Given the description of an element on the screen output the (x, y) to click on. 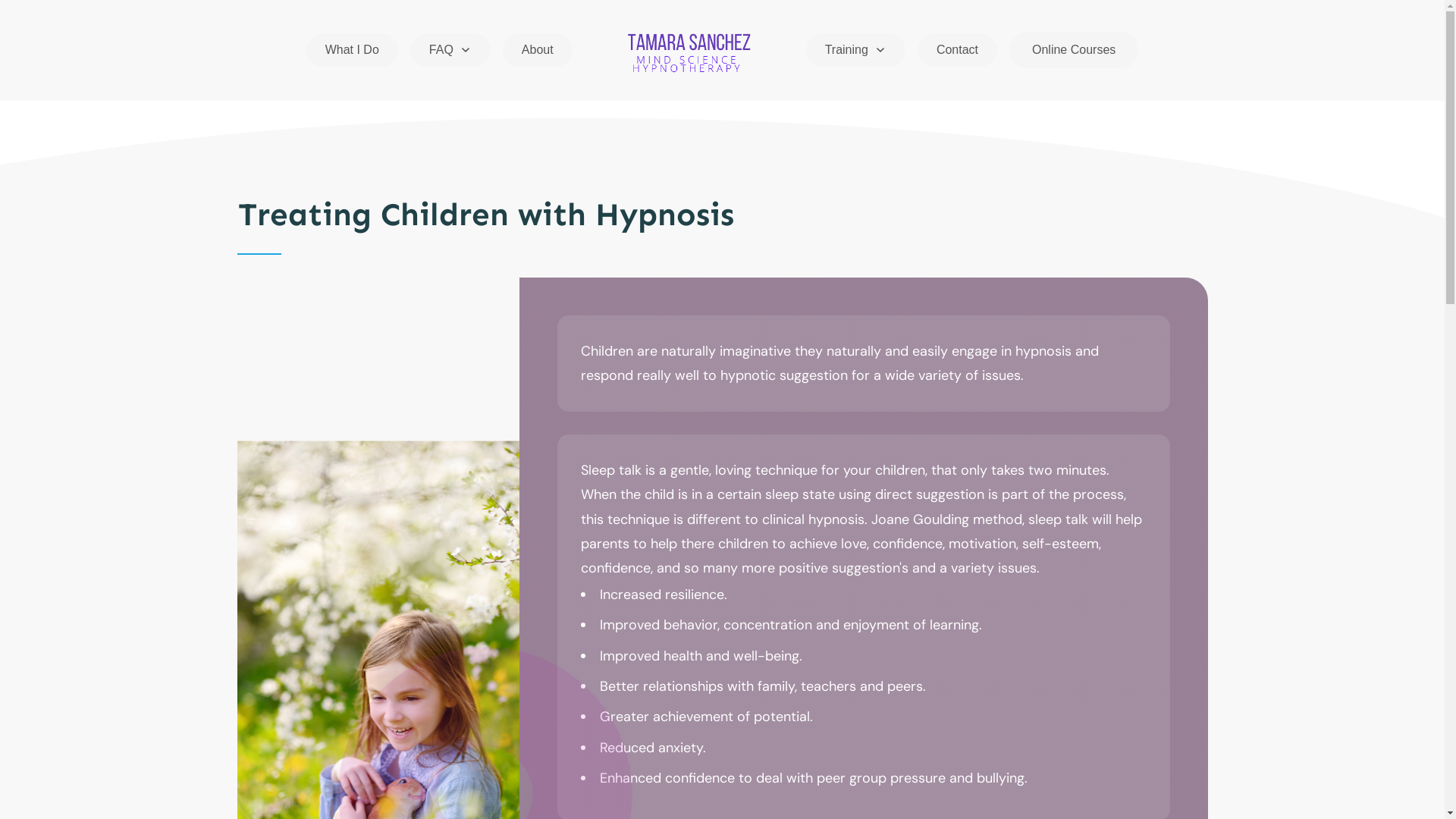
Training Element type: text (855, 49)
What I Do Element type: text (352, 49)
About Element type: text (537, 49)
Contact Element type: text (957, 49)
Online Courses Element type: text (1073, 49)
FAQ Element type: text (450, 49)
